Given the description of an element on the screen output the (x, y) to click on. 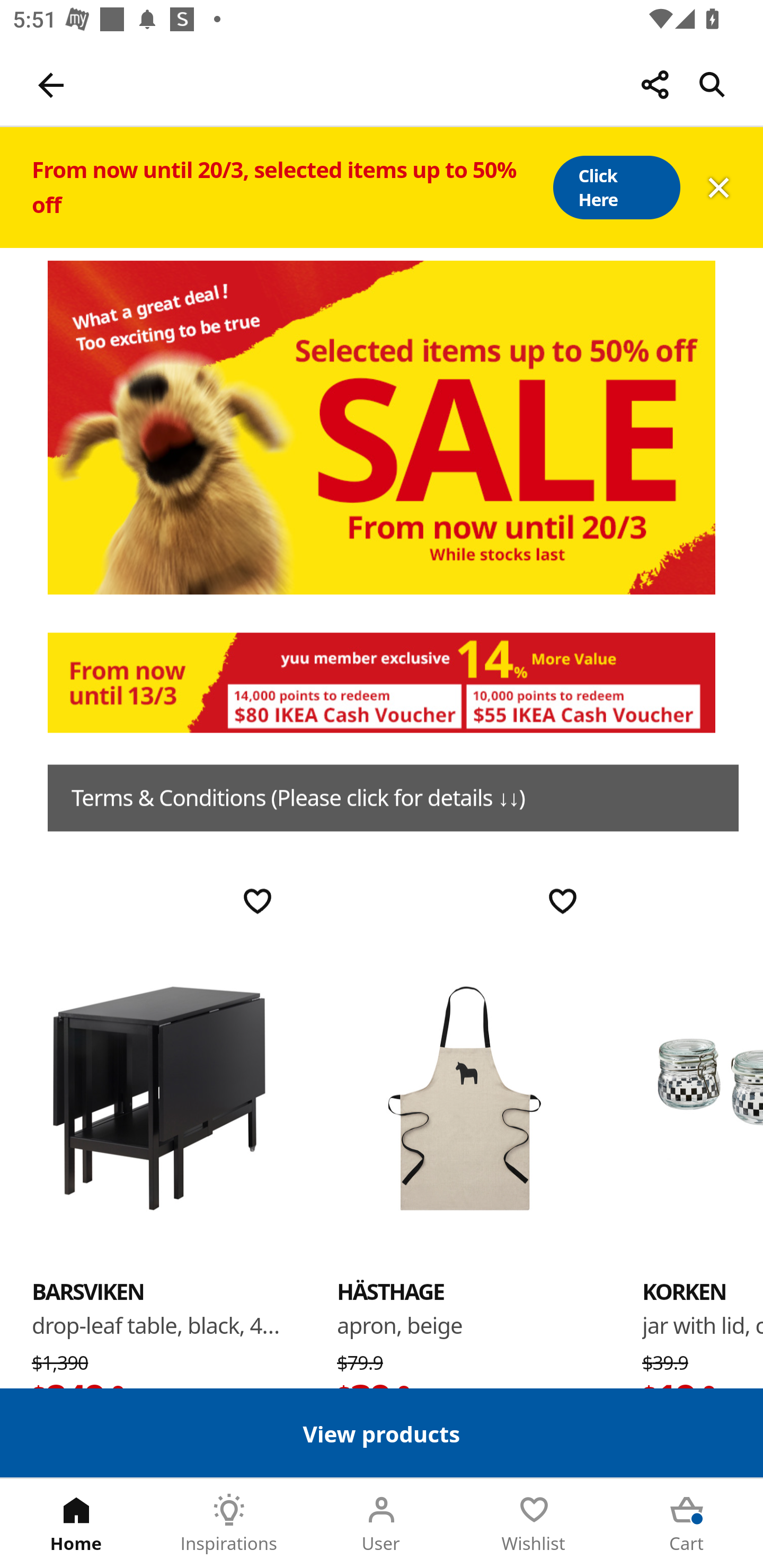
Click Here (615, 187)
Terms & Conditions (Please click for details ↓↓) (393, 798)
BARSVIKEN (159, 1096)
HÄSTHAGE (464, 1096)
KORKEN (702, 1096)
BARSVIKEN (88, 1290)
HÄSTHAGE (390, 1290)
KORKEN (684, 1290)
View products (381, 1432)
Home
Tab 1 of 5 (76, 1522)
Inspirations
Tab 2 of 5 (228, 1522)
User
Tab 3 of 5 (381, 1522)
Wishlist
Tab 4 of 5 (533, 1522)
Cart
Tab 5 of 5 (686, 1522)
